Given the description of an element on the screen output the (x, y) to click on. 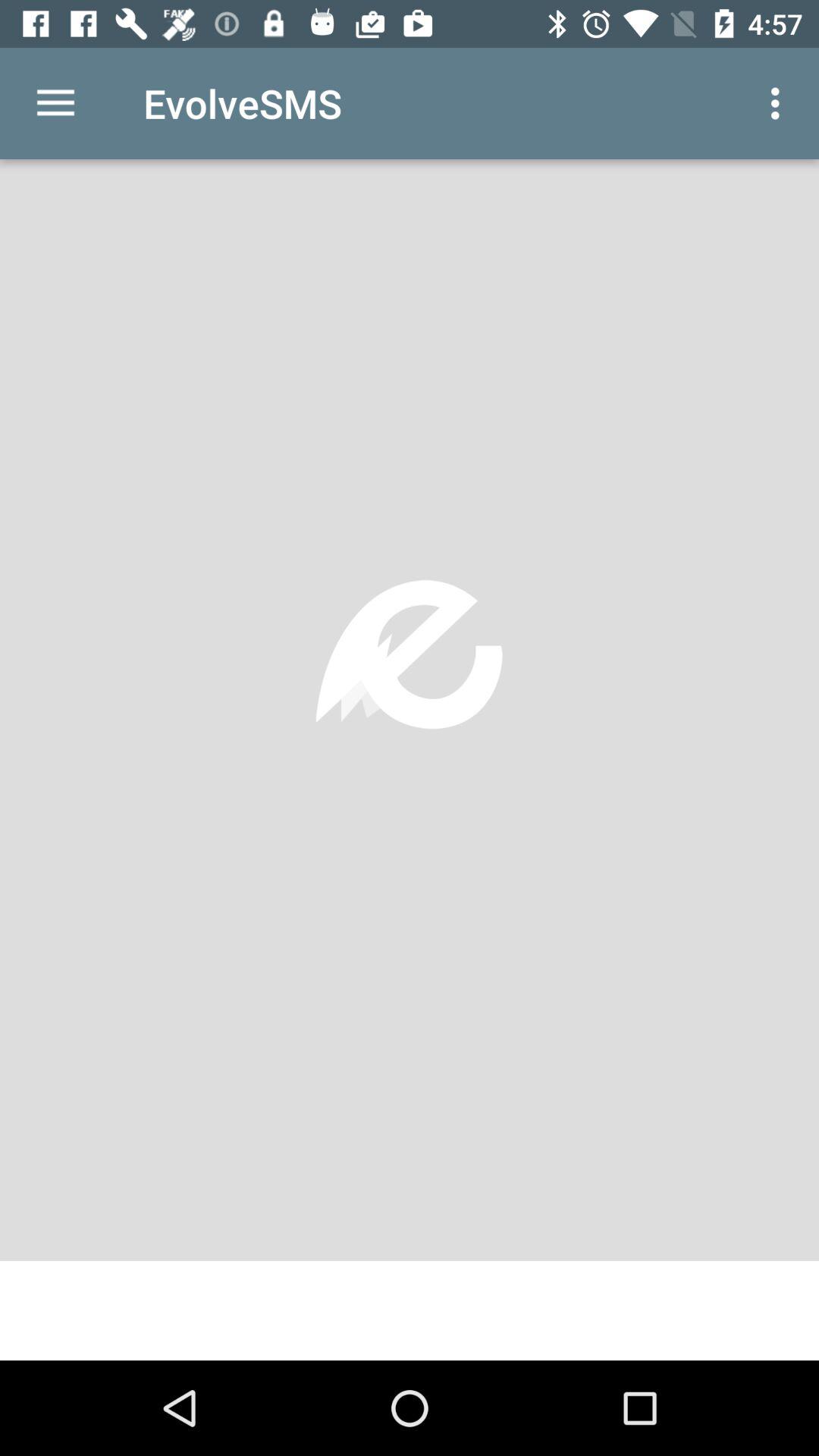
open the icon at the top right corner (779, 103)
